Given the description of an element on the screen output the (x, y) to click on. 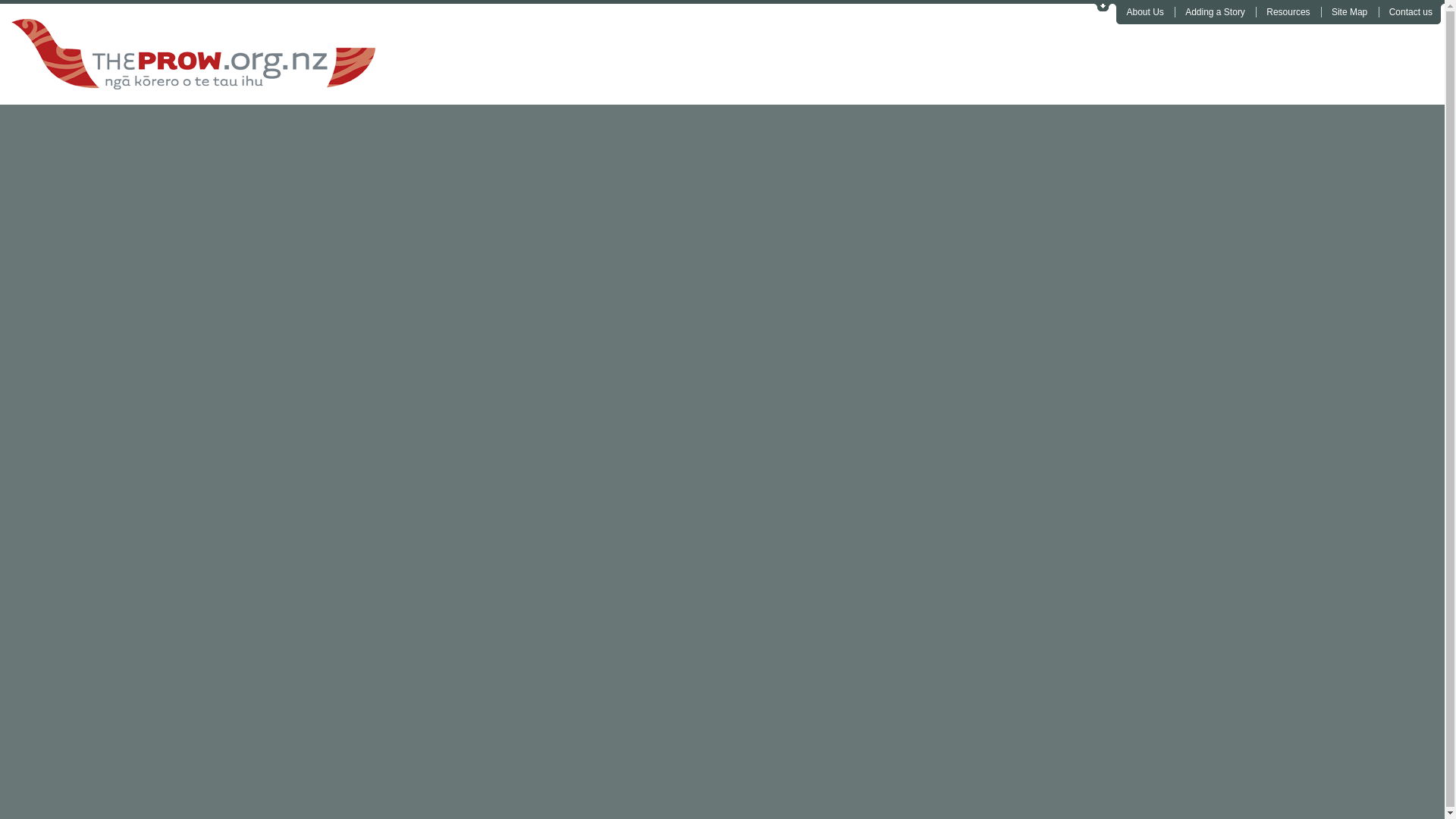
Site Map (1349, 11)
About Us (1145, 11)
The Prow - Home Page (343, 53)
Skip to Content (1104, 5)
Contact us (1410, 11)
Adding a Story (1214, 11)
Resources (1287, 11)
